Given the description of an element on the screen output the (x, y) to click on. 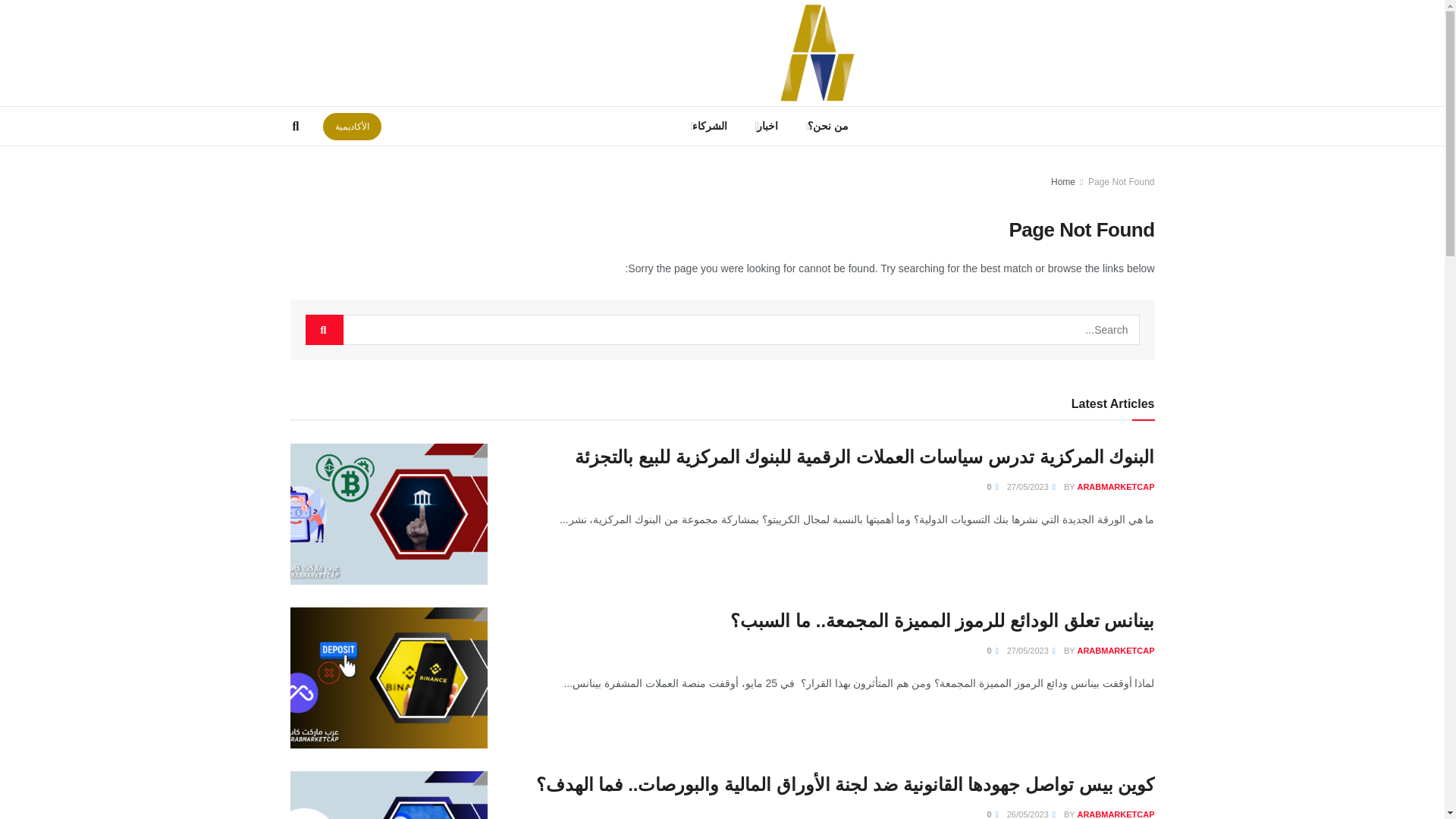
Login (359, 53)
Home (1063, 181)
Register (314, 53)
ARABMARKETCAP (1115, 486)
Page Not Found (1120, 181)
